Given the description of an element on the screen output the (x, y) to click on. 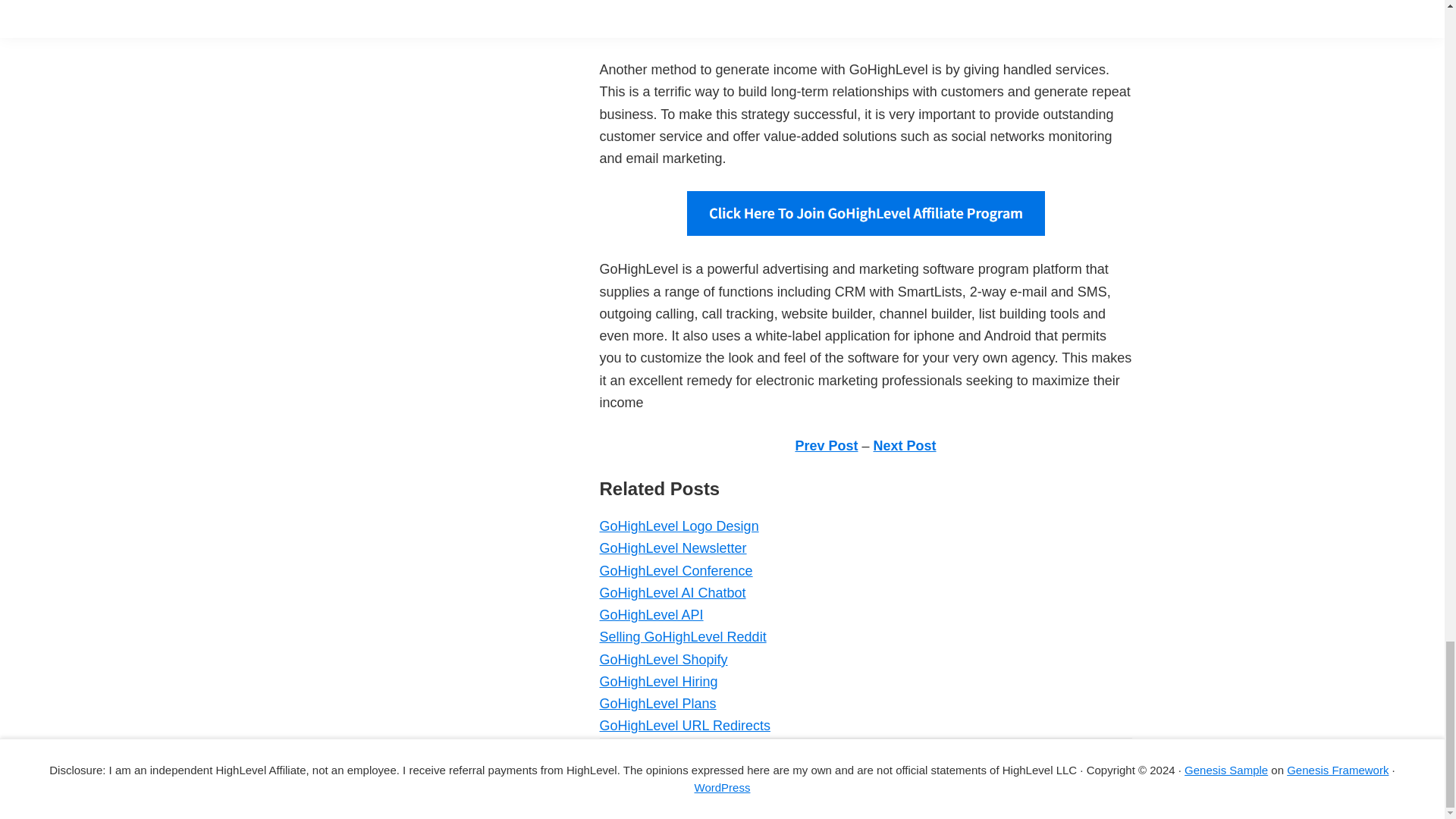
GoHighLevel API (650, 614)
GoHighLevel Newsletter (671, 548)
GoHighLevel AI Chatbot (671, 592)
GoHighLevel URL Redirects (684, 725)
GoHighLevel AI Chatbot (671, 592)
GoHighLevel Conference (675, 570)
GoHighLevel Shopify (662, 659)
GoHighLevel Shopify (662, 659)
GoHighLevel Plans (657, 703)
GoHighLevel Conference (675, 570)
